Given the description of an element on the screen output the (x, y) to click on. 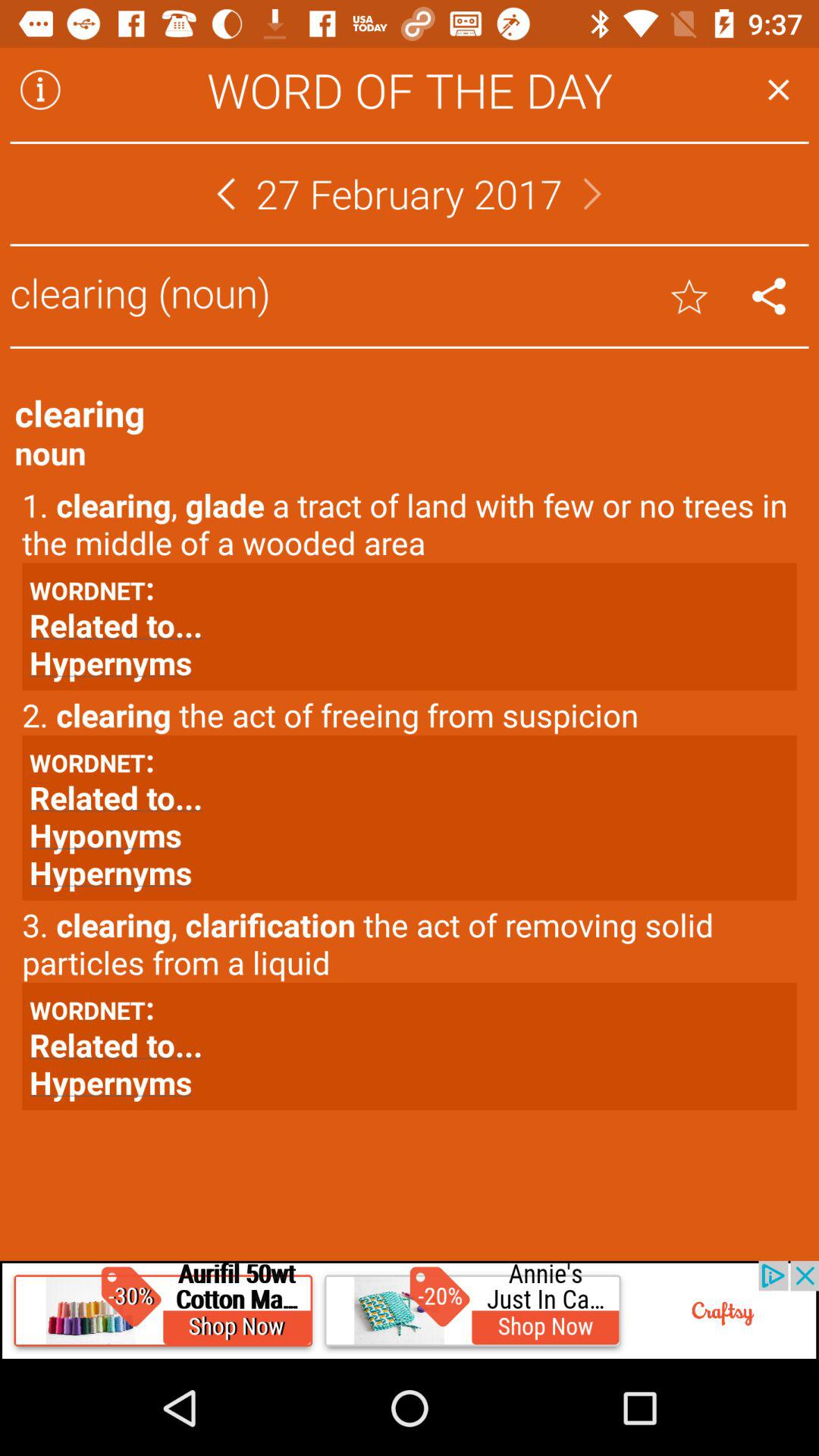
open advertisement (409, 1310)
